Given the description of an element on the screen output the (x, y) to click on. 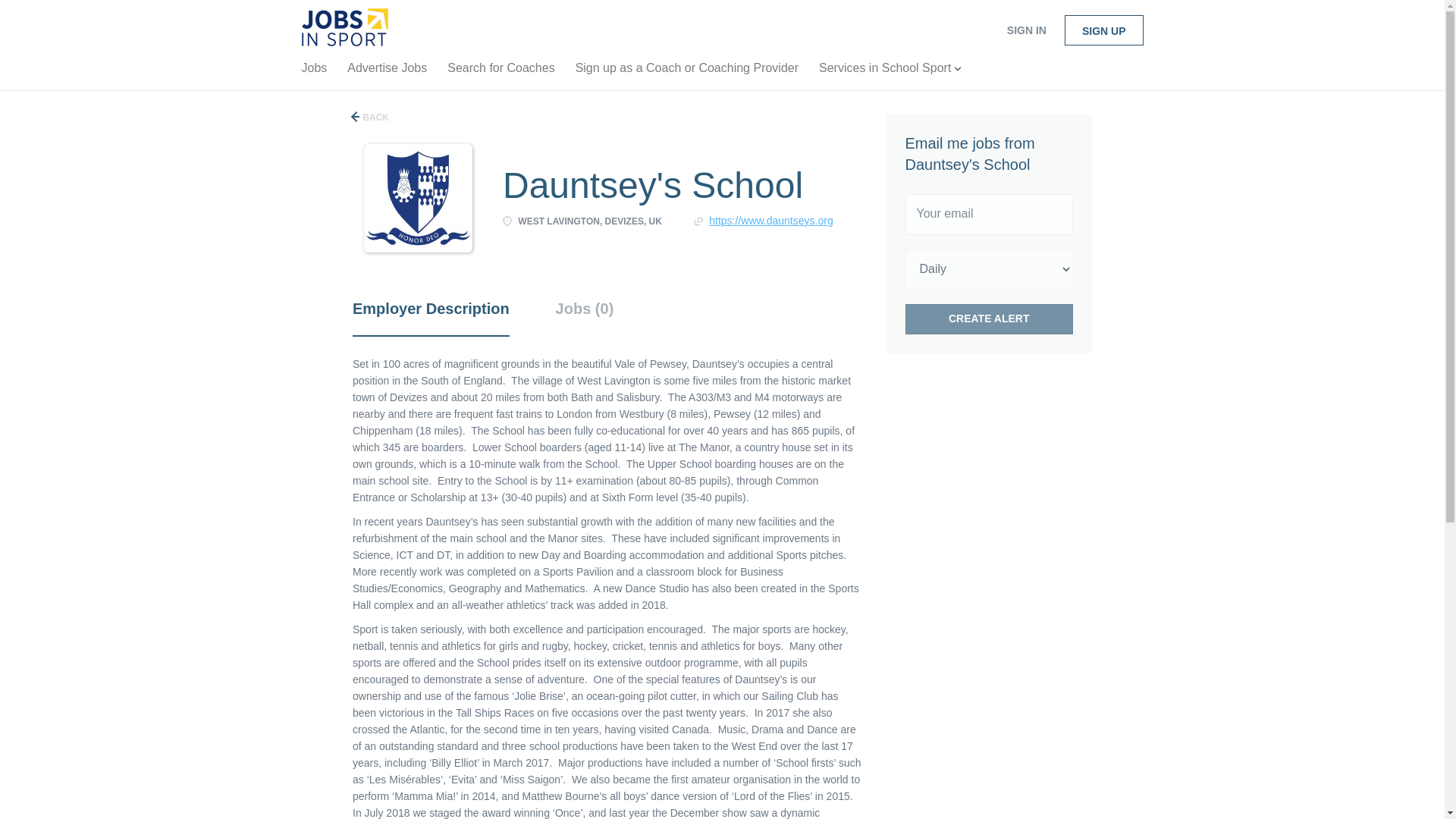
Create alert (989, 318)
Services in School Sport (889, 71)
Employer Description (430, 317)
Sign up as a Coach or Coaching Provider (686, 71)
SIGN IN (1026, 30)
Advertise Jobs (386, 71)
Search for Coaches (500, 71)
Jobs (314, 71)
Create alert (989, 318)
BACK (370, 117)
SIGN UP (1103, 30)
